Given the description of an element on the screen output the (x, y) to click on. 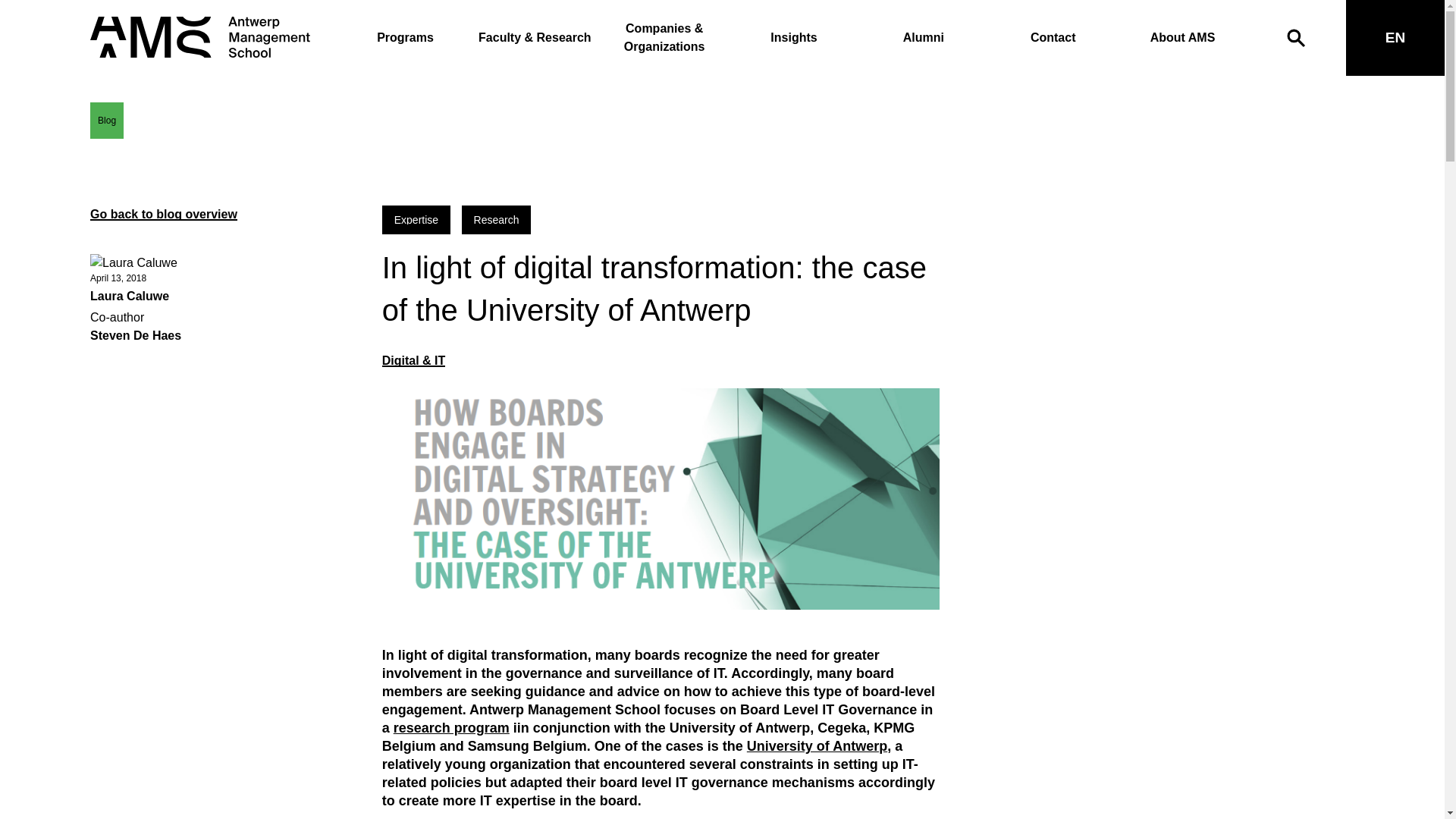
About AMS (1182, 38)
Programs (405, 38)
Insights (794, 38)
Programs (405, 38)
Alumni (923, 38)
Contact (1053, 38)
